Given the description of an element on the screen output the (x, y) to click on. 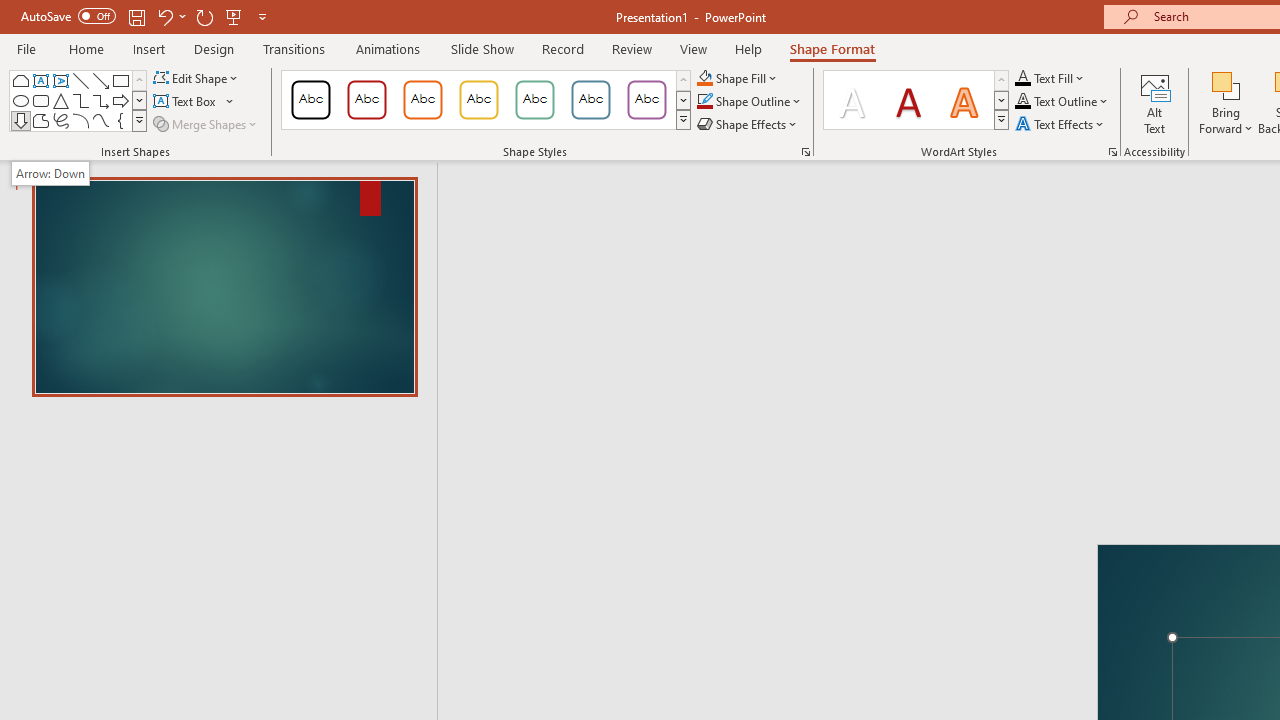
Quick Styles (1001, 120)
Shape Outline Blue, Accent 1 (704, 101)
Format Text Effects... (1112, 151)
Colored Outline - Blue-Gray, Accent 5 (591, 100)
Freeform: Shape (40, 120)
Merge Shapes (206, 124)
Colored Outline - Orange, Accent 2 (422, 100)
Alt Text (1155, 102)
Arc (80, 120)
AutomationID: ShapesInsertGallery (78, 100)
